Given the description of an element on the screen output the (x, y) to click on. 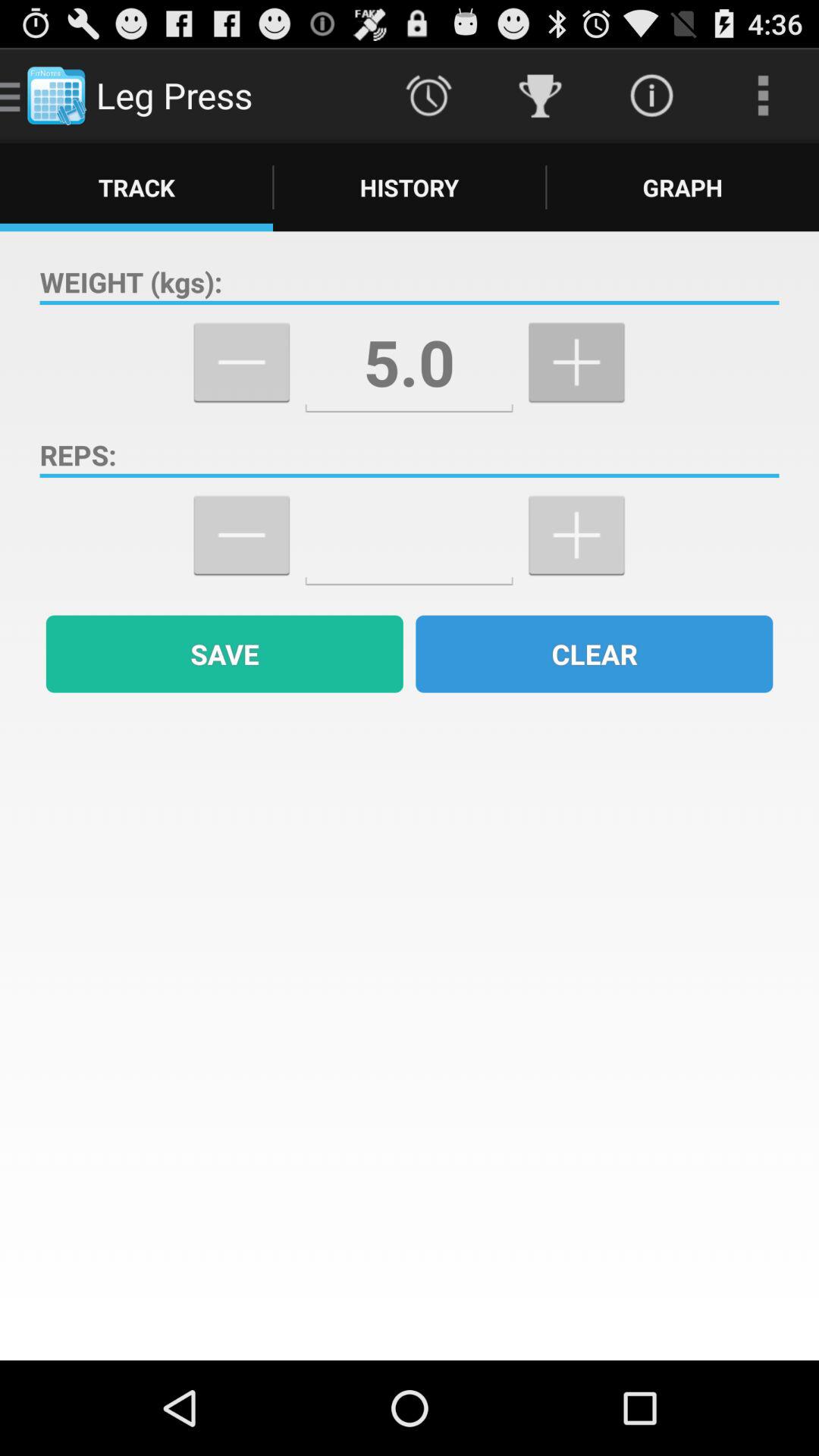
enter value (408, 535)
